Given the description of an element on the screen output the (x, y) to click on. 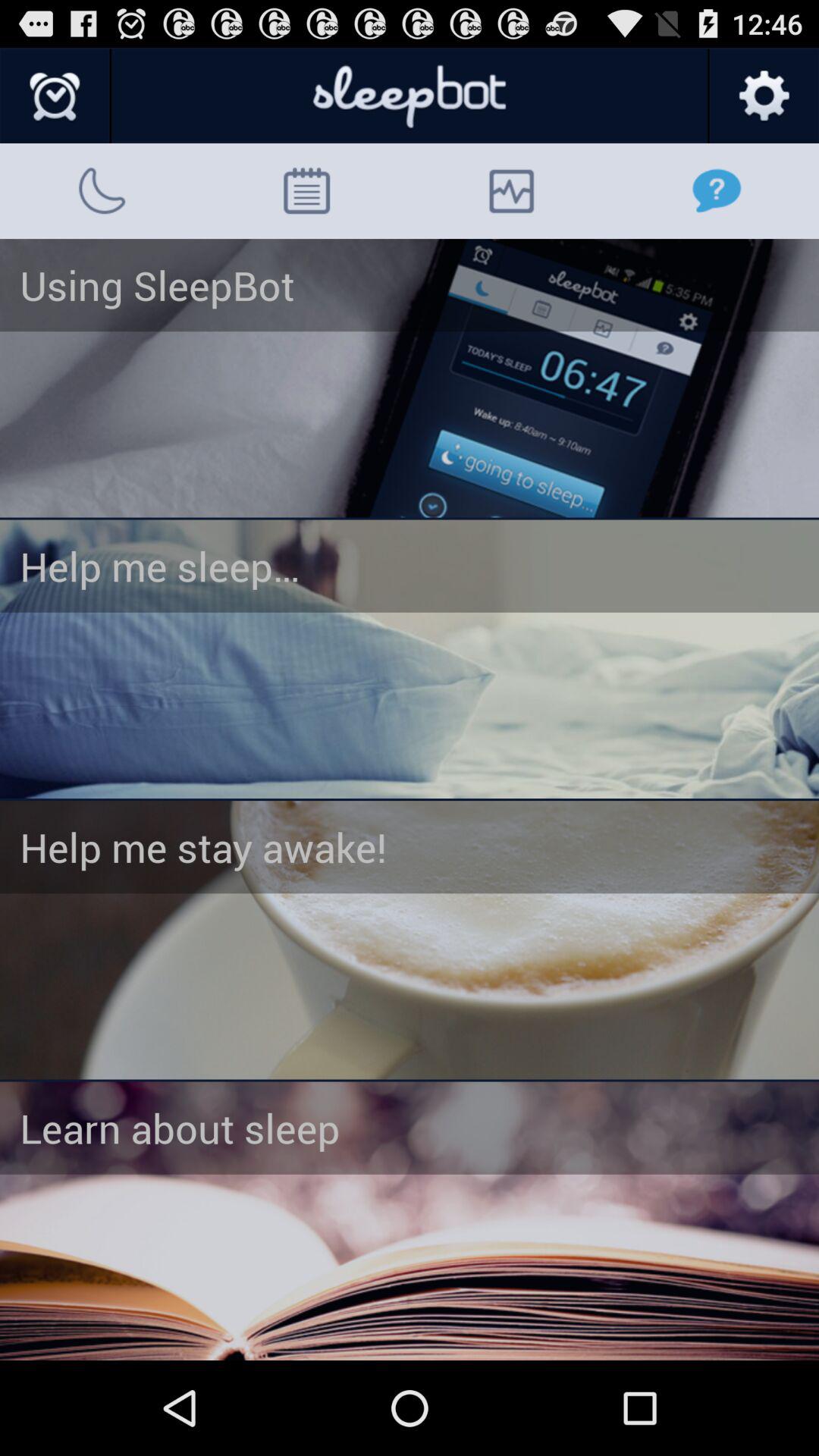
go to learn about sleep (409, 1220)
